Given the description of an element on the screen output the (x, y) to click on. 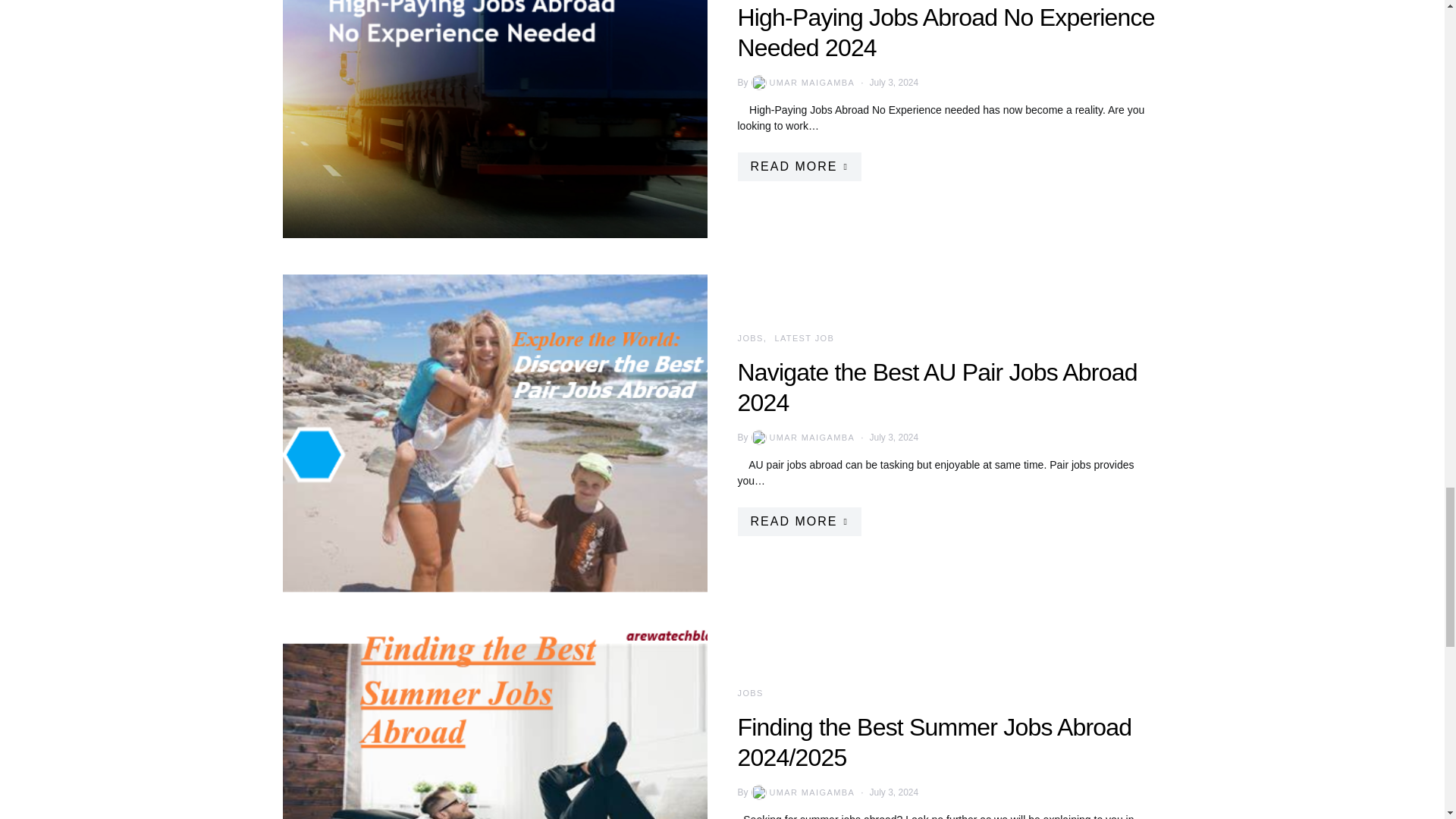
View all posts by Umar Maigamba (802, 792)
View all posts by Umar Maigamba (802, 437)
View all posts by Umar Maigamba (802, 82)
